Given the description of an element on the screen output the (x, y) to click on. 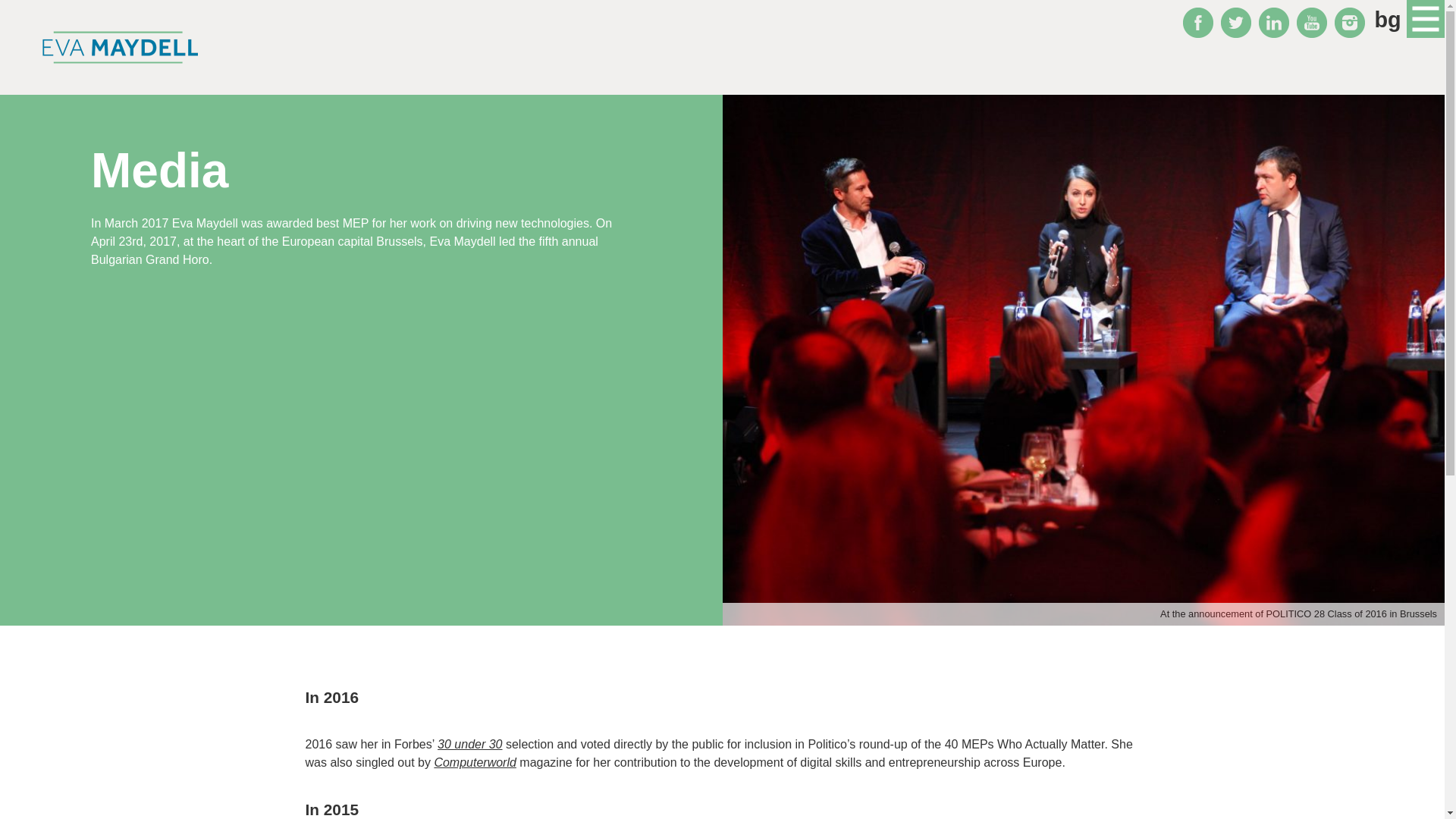
30 under 30 (470, 744)
Computerworld (474, 762)
Facebook (1197, 22)
YouTube (1311, 22)
Instagram (1350, 22)
LinkedIn (1273, 22)
Eva Maydell (120, 47)
bg (1388, 20)
Twitter (1235, 22)
